Given the description of an element on the screen output the (x, y) to click on. 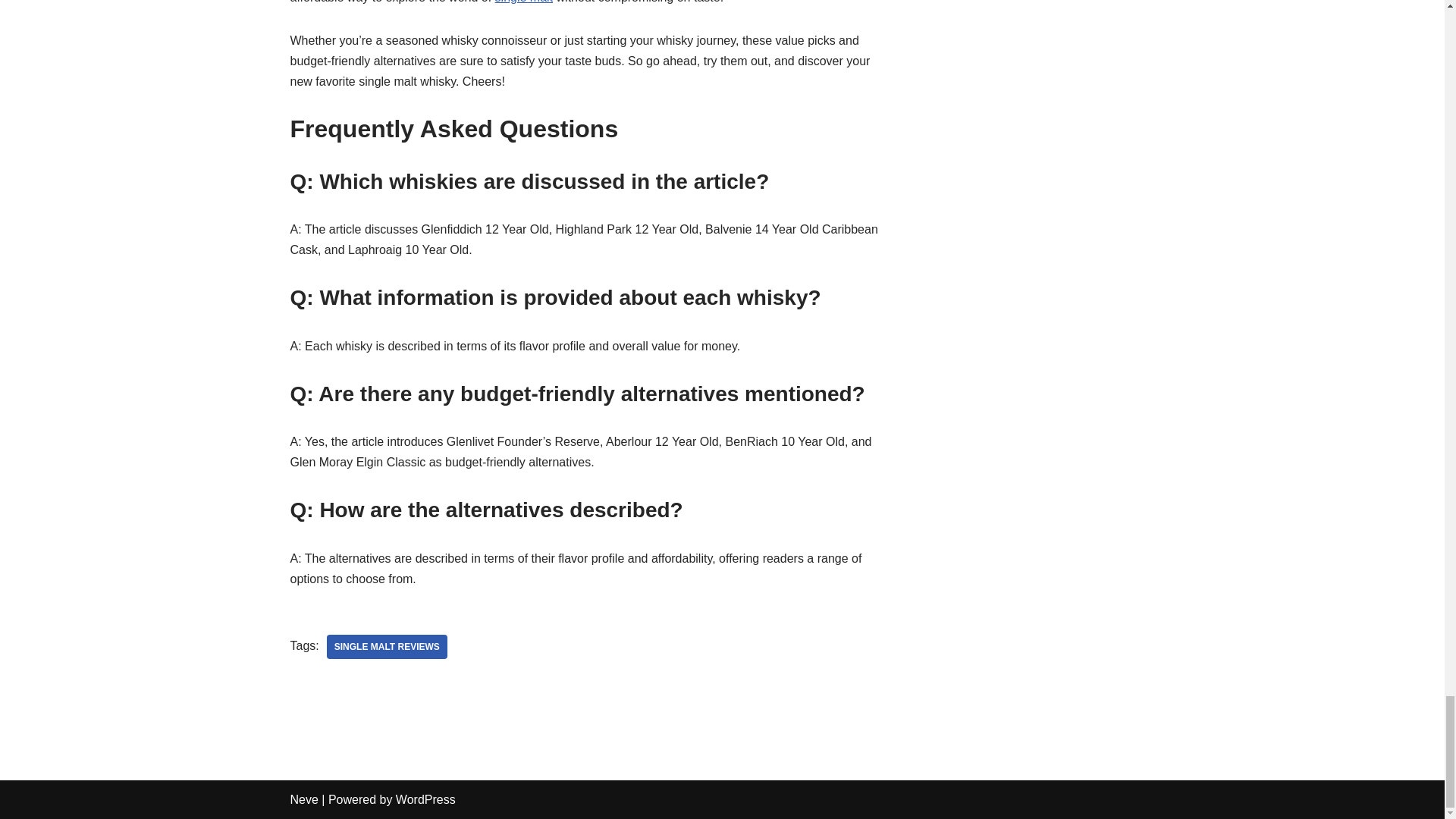
SINGLE MALT REVIEWS (386, 646)
Single malt reviews (386, 646)
single malt (524, 2)
Neve (303, 799)
WordPress (425, 799)
